Given the description of an element on the screen output the (x, y) to click on. 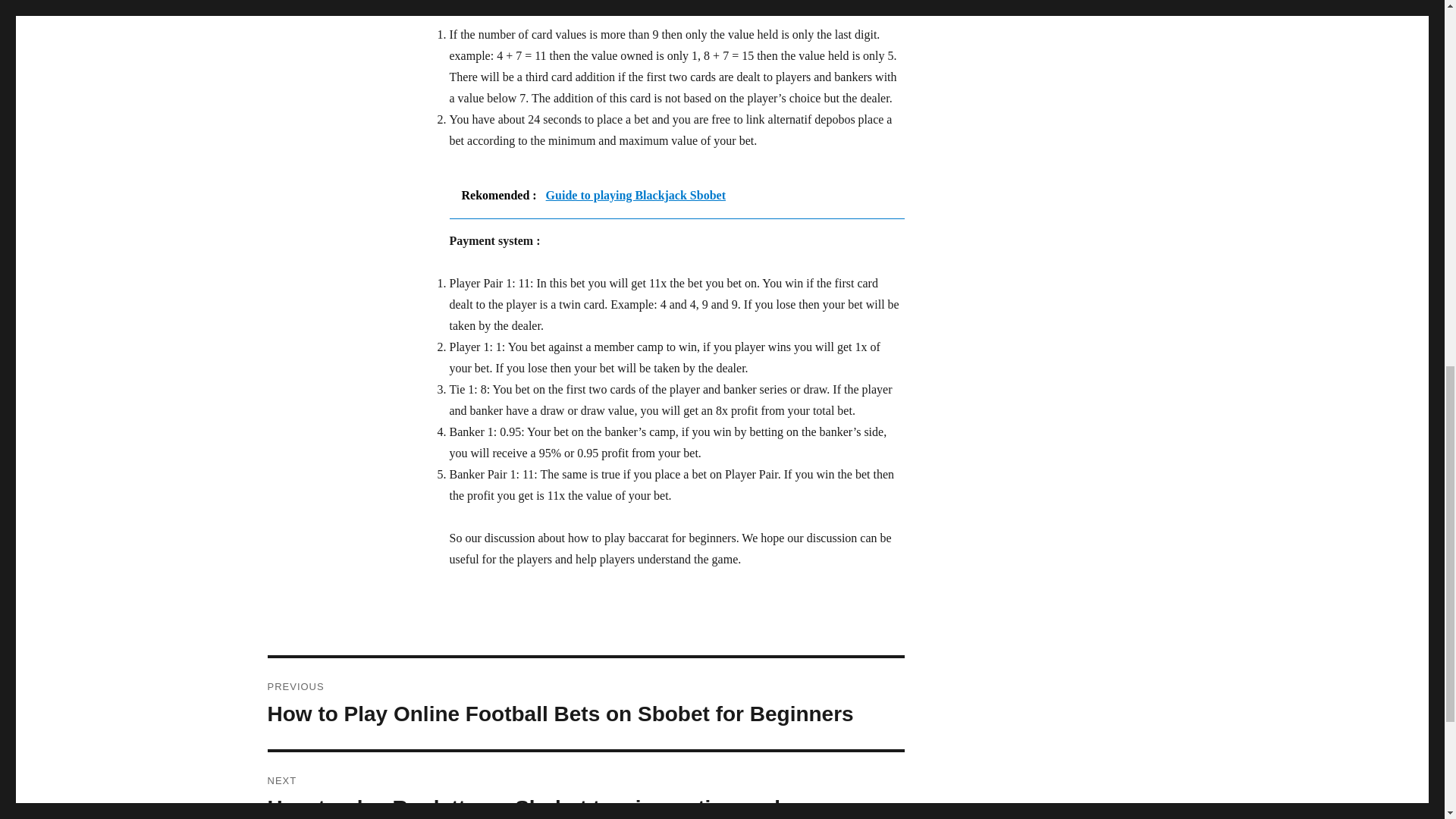
Rekomended :   Guide to playing Blackjack Sbobet (676, 195)
